Given the description of an element on the screen output the (x, y) to click on. 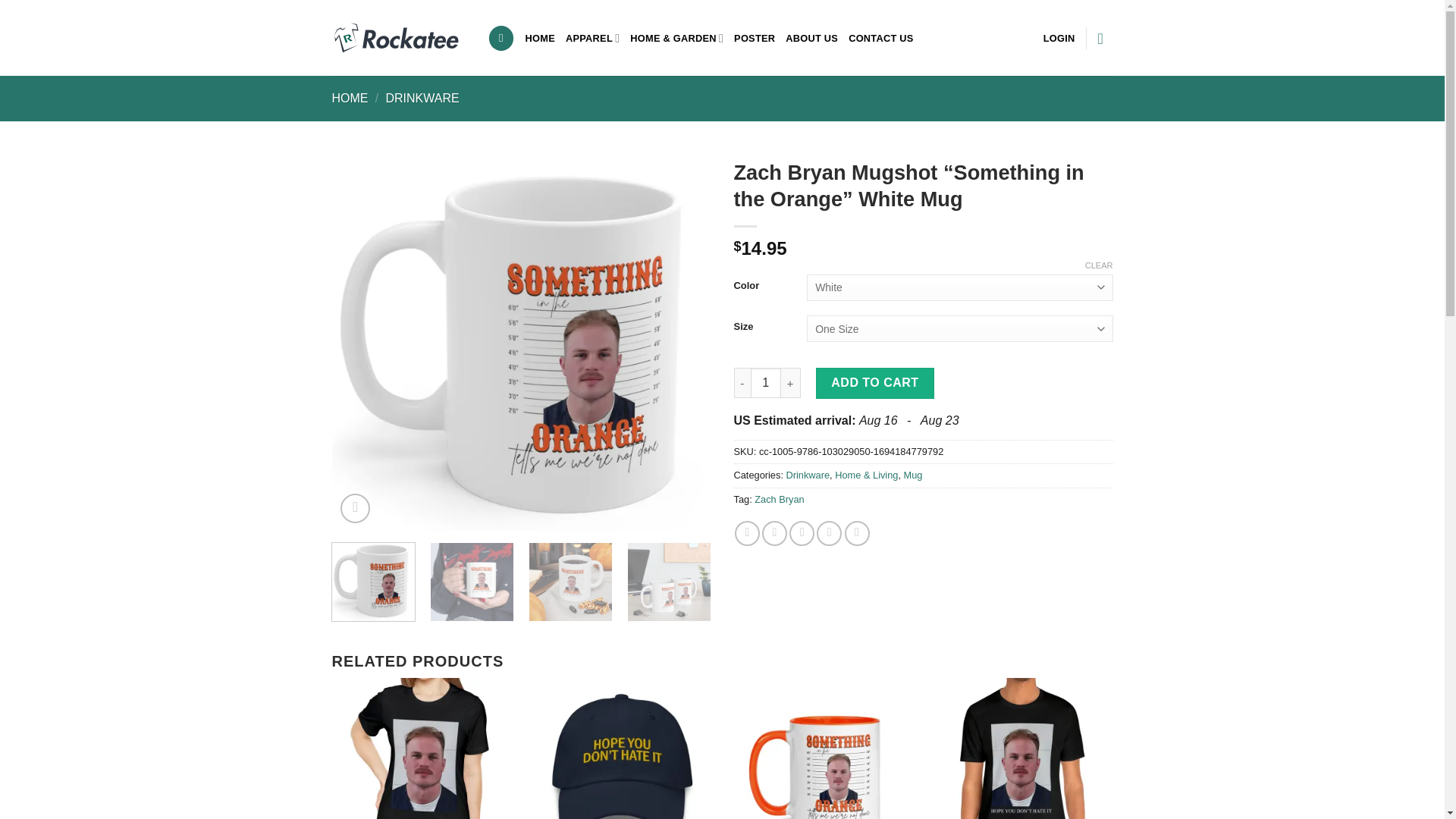
Mug (913, 474)
APPAREL (593, 38)
Zach Bryan Mugshot Shirt (423, 748)
Drinkware (807, 474)
HOME (539, 38)
Email to a Friend (801, 533)
CONTACT US (881, 38)
LOGIN (1059, 38)
Zach Bryan (778, 499)
